Given the description of an element on the screen output the (x, y) to click on. 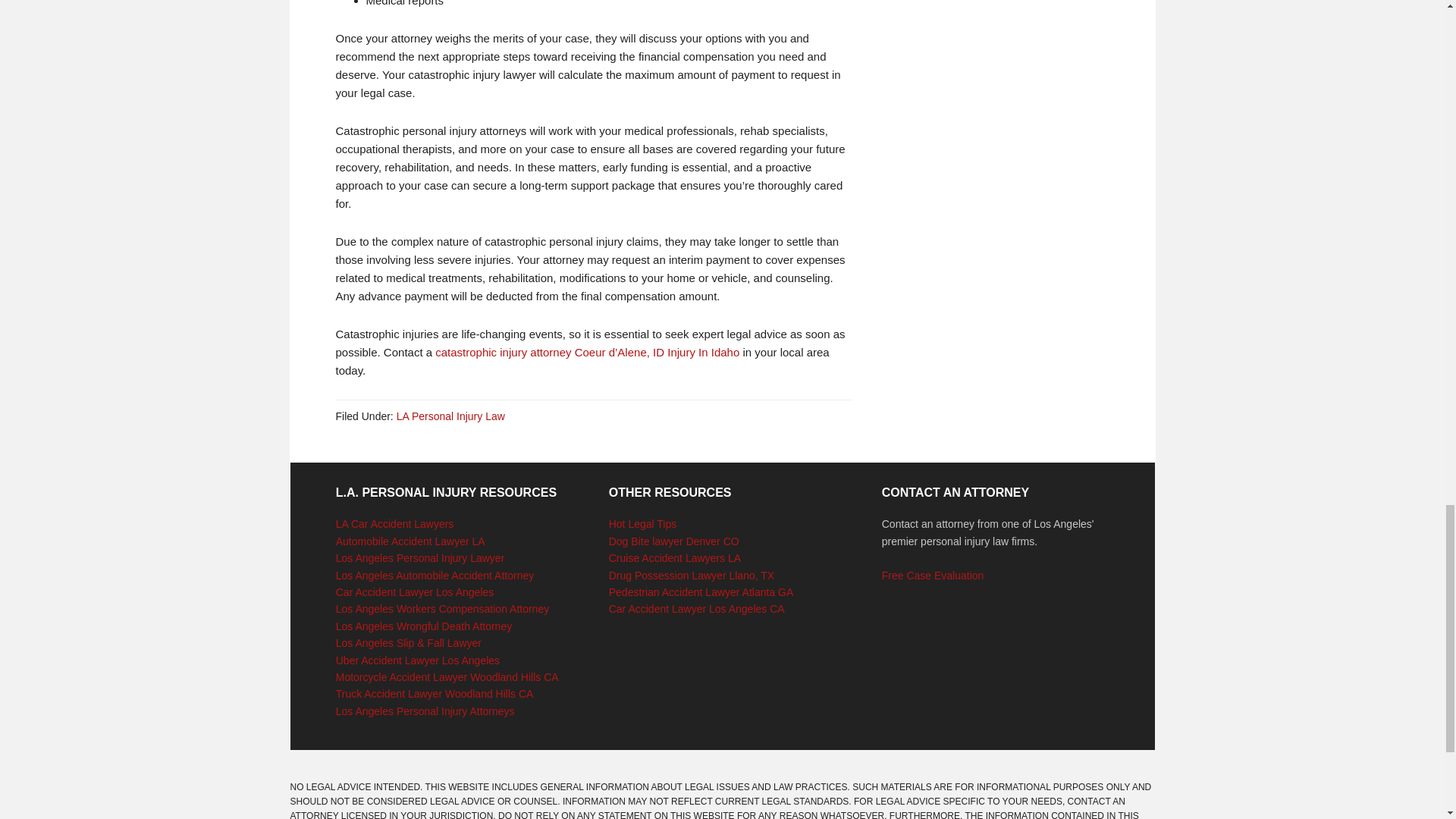
Los Angeles Automobile Accident Attorney (435, 575)
LA Car Accident Lawyers (395, 523)
LA Personal Injury Law (450, 416)
Automobile Accident Lawyer LA (410, 541)
Los Angeles Workers Compensation Attorney (442, 608)
Los Angeles Personal Injury Lawyer (420, 558)
Uber Accident Lawyer Los Angeles (417, 660)
Car Accident Lawyer Los Angeles (415, 592)
Los Angeles Wrongful Death Attorney (424, 625)
Motorcycle Accident Lawyer Woodland Hills CA (447, 676)
